Given the description of an element on the screen output the (x, y) to click on. 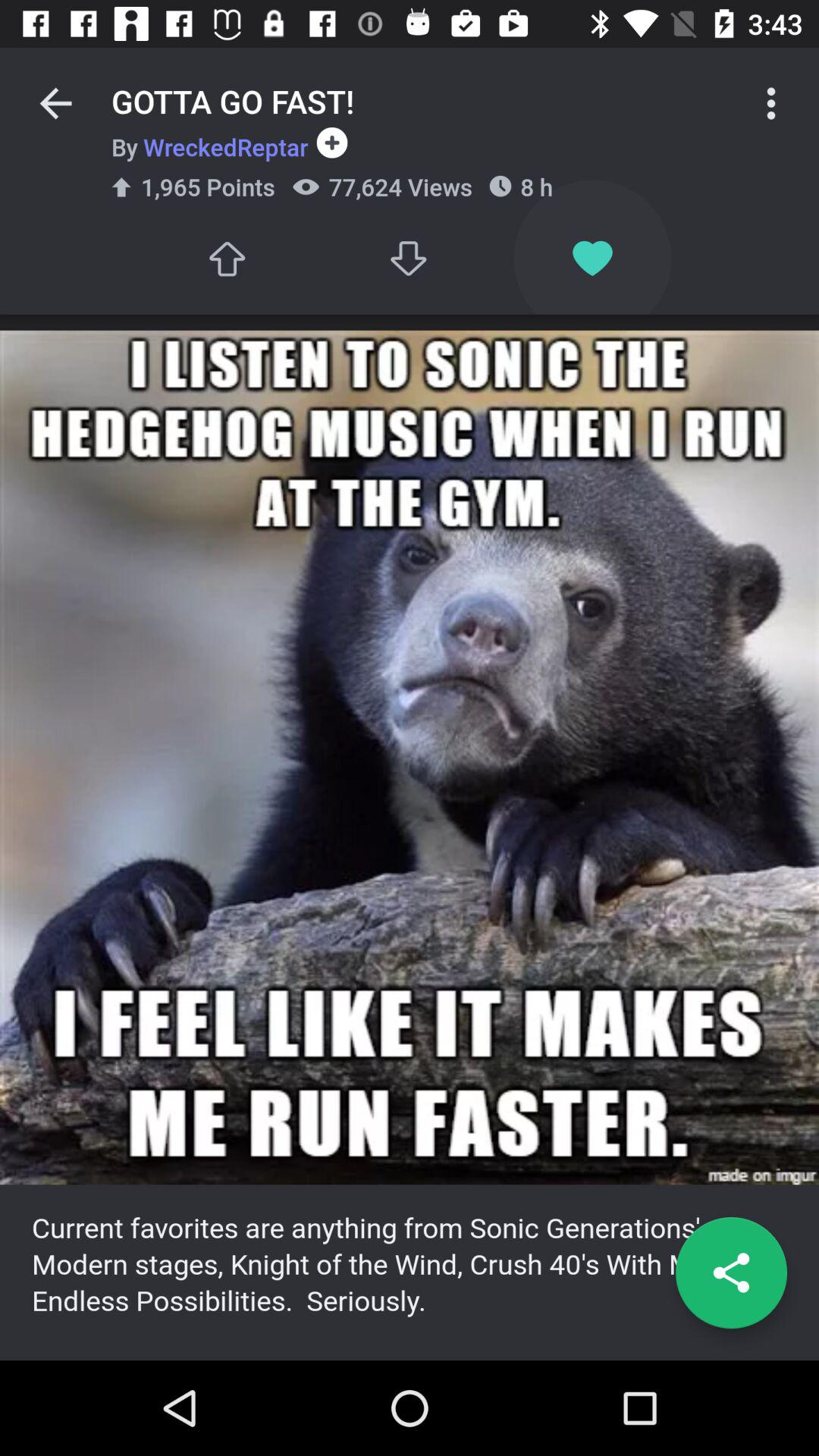
like (226, 258)
